Given the description of an element on the screen output the (x, y) to click on. 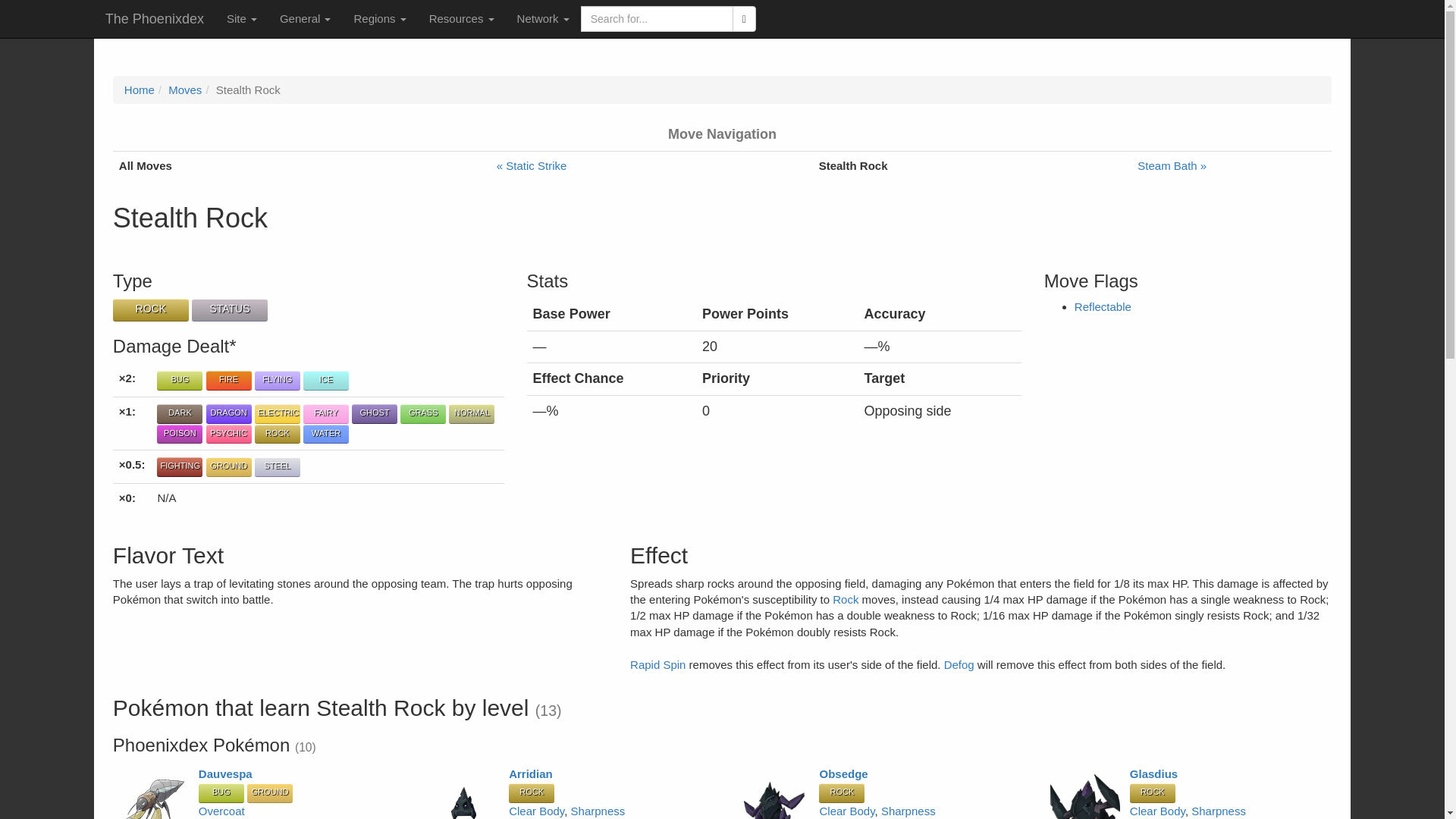
Network (542, 18)
Home (138, 89)
The Phoenixdex (154, 18)
General (304, 18)
Site (241, 18)
BUG (179, 380)
Resources (461, 18)
ROCK (151, 309)
Regions (379, 18)
Moves (185, 89)
Search (743, 18)
STATUS (229, 309)
